Given the description of an element on the screen output the (x, y) to click on. 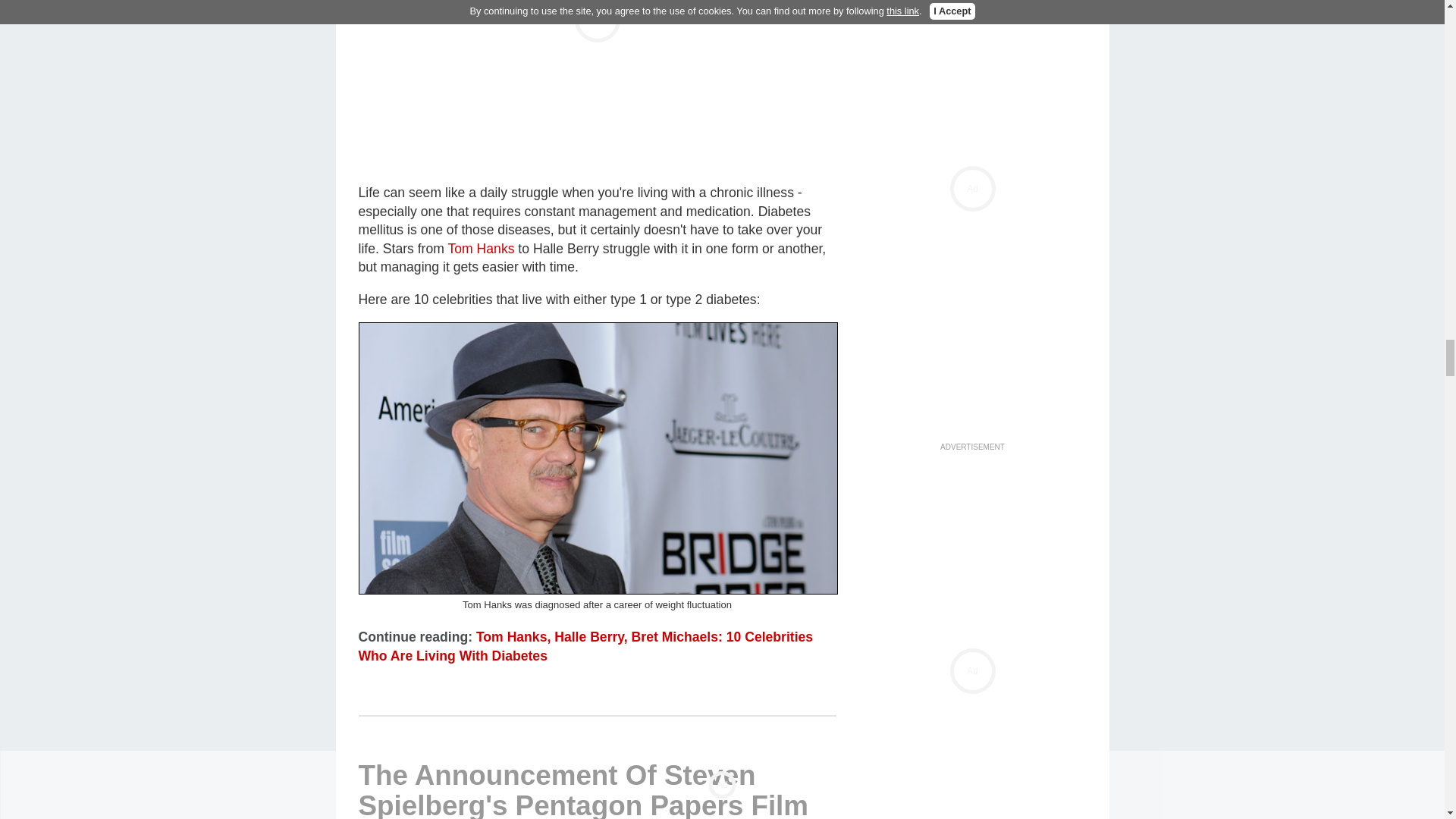
Tom Hanks (597, 458)
